Given the description of an element on the screen output the (x, y) to click on. 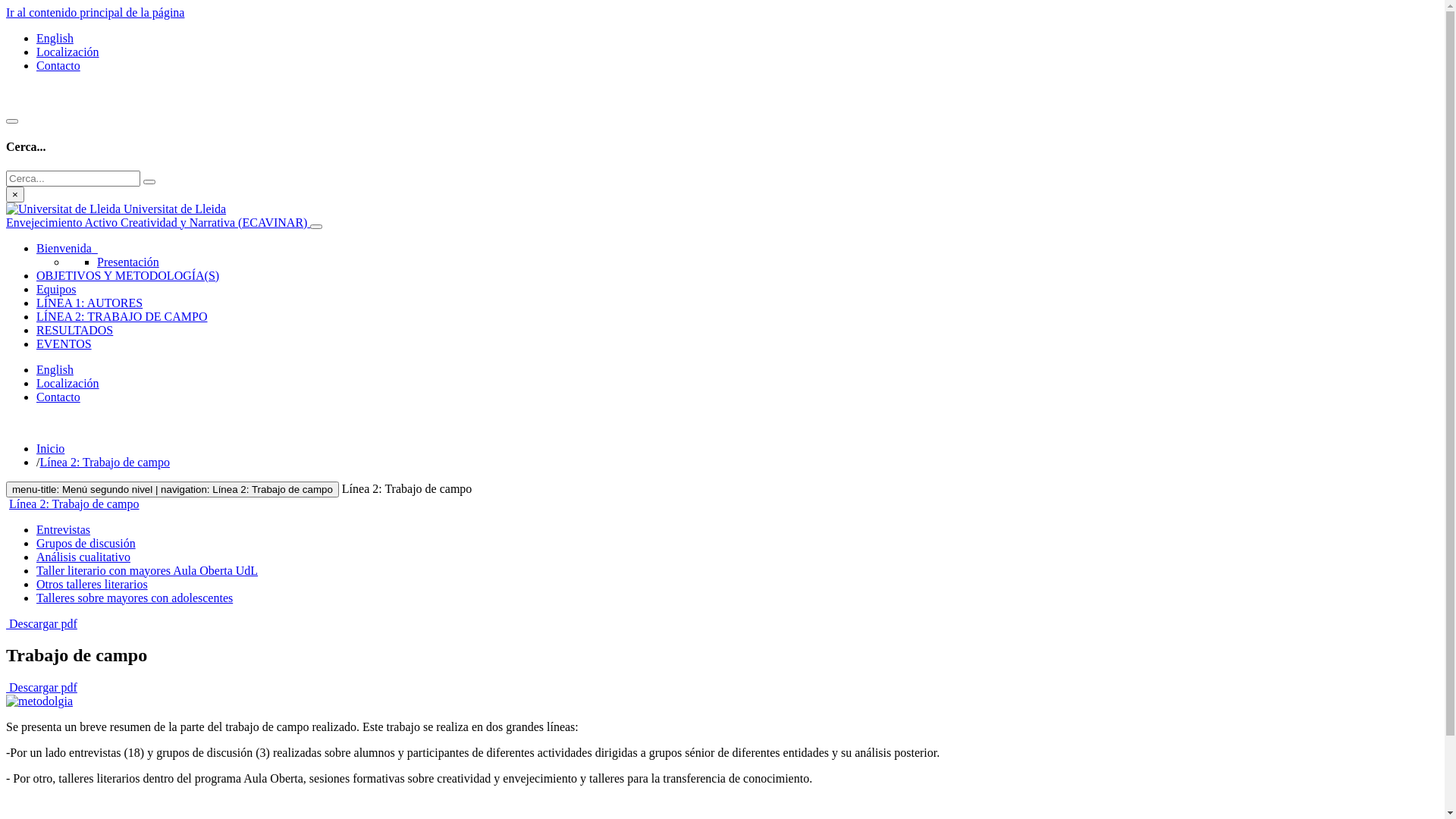
Bienvenida   Element type: text (66, 247)
Search Element type: hover (149, 181)
Cerca... Element type: hover (73, 178)
Inicio Element type: text (50, 448)
English Element type: text (54, 37)
submit Element type: text (149, 181)
English Element type: text (54, 369)
Ampliar imagen Element type: hover (722, 701)
Contacto Element type: text (58, 65)
Contacto Element type: text (58, 396)
EVENTOS Element type: text (63, 343)
Otros talleres literarios Element type: text (91, 583)
 Descargar pdf Element type: text (41, 623)
RESULTADOS Element type: text (74, 329)
Talleres sobre mayores con adolescentes Element type: text (134, 597)
 Descargar pdf Element type: text (41, 686)
Entrevistas Element type: text (63, 529)
Equipos Element type: text (55, 288)
Search Element type: hover (12, 121)
Taller literario con mayores Aula Oberta UdL Element type: text (146, 570)
